Given the description of an element on the screen output the (x, y) to click on. 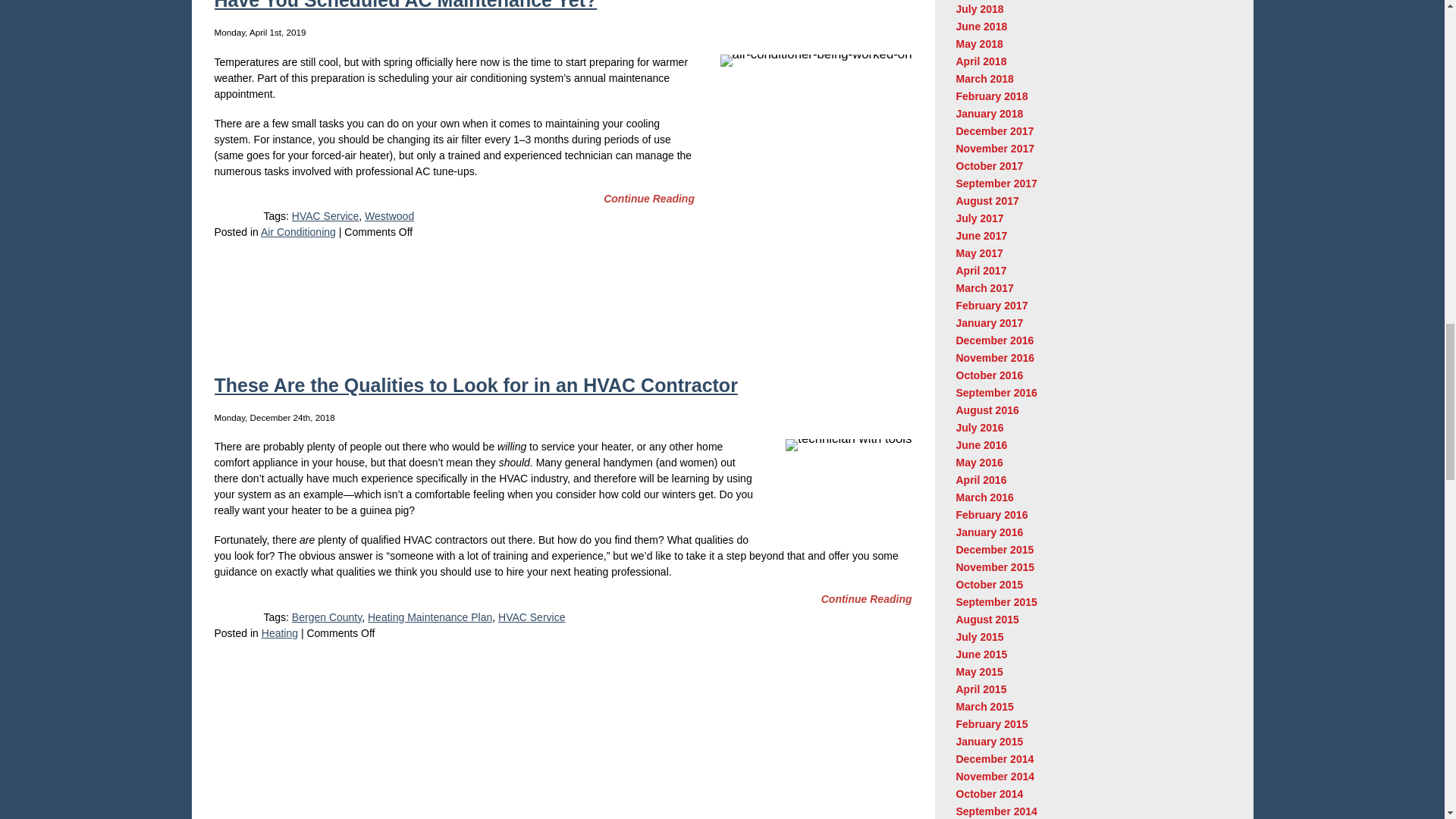
Permanent Link to Have You Scheduled AC Maintenance Yet? (405, 5)
Permanent Link to Have You Scheduled AC Maintenance Yet? (649, 198)
